Given the description of an element on the screen output the (x, y) to click on. 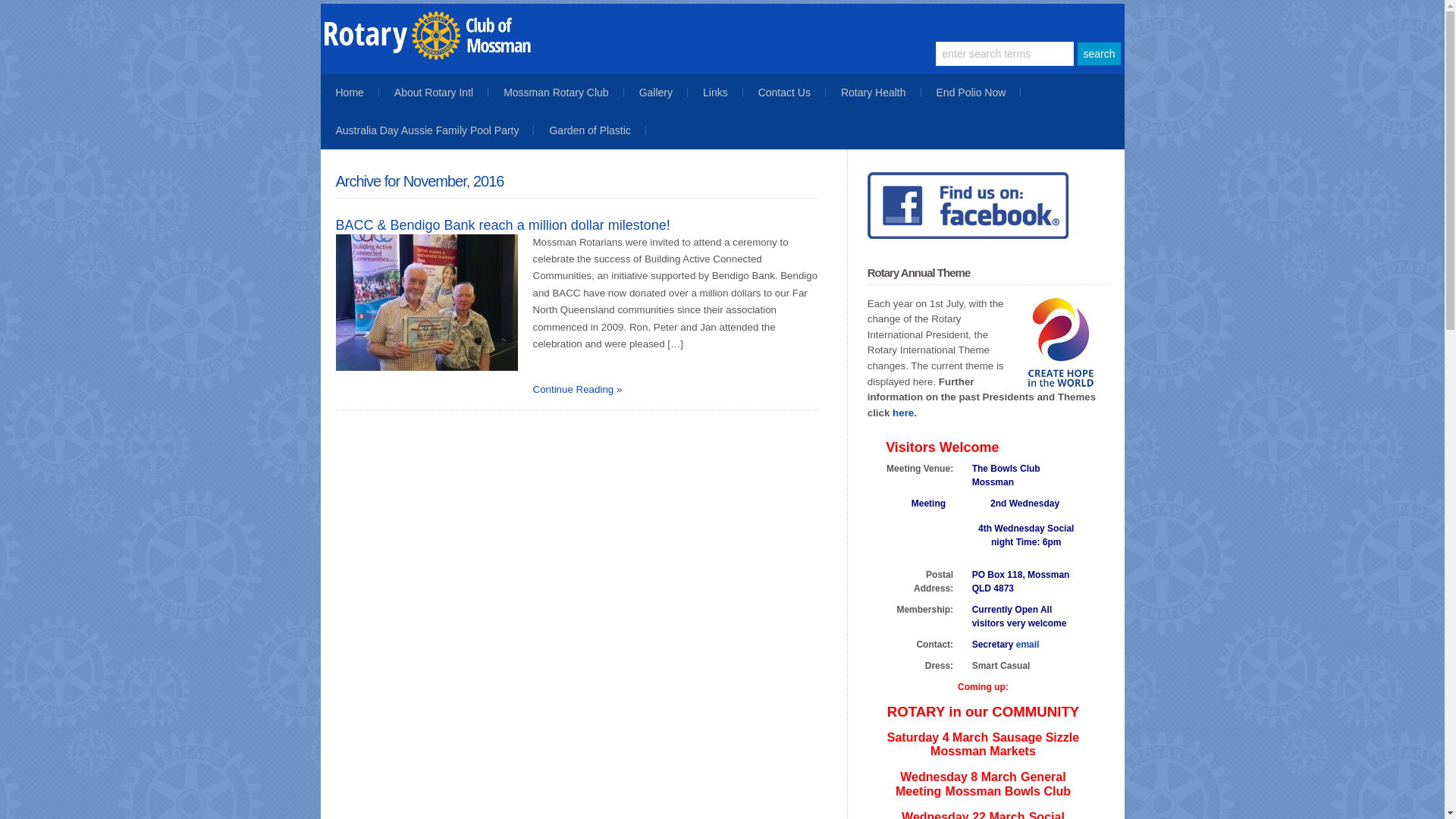
Contact Us Element type: text (784, 92)
Australia Day Aussie Family Pool Party Element type: text (426, 130)
Rotary Club of Mossman Element type: hover (452, 56)
Rotary Health Element type: text (873, 92)
Garden of Plastic Element type: text (589, 130)
Links Element type: text (715, 92)
End Polio Now Element type: text (971, 92)
here. Element type: text (904, 412)
search Element type: text (1098, 53)
Mossman Rotary Club Element type: text (556, 92)
Home Element type: text (349, 92)
BACC & Bendigo Bank reach a million dollar milestone! Element type: text (502, 224)
email Element type: text (1027, 644)
About Rotary Intl Element type: text (433, 92)
BACC & Bendigo Bank reach a million dollar milestone! Element type: hover (426, 302)
Gallery Element type: text (655, 92)
